Given the description of an element on the screen output the (x, y) to click on. 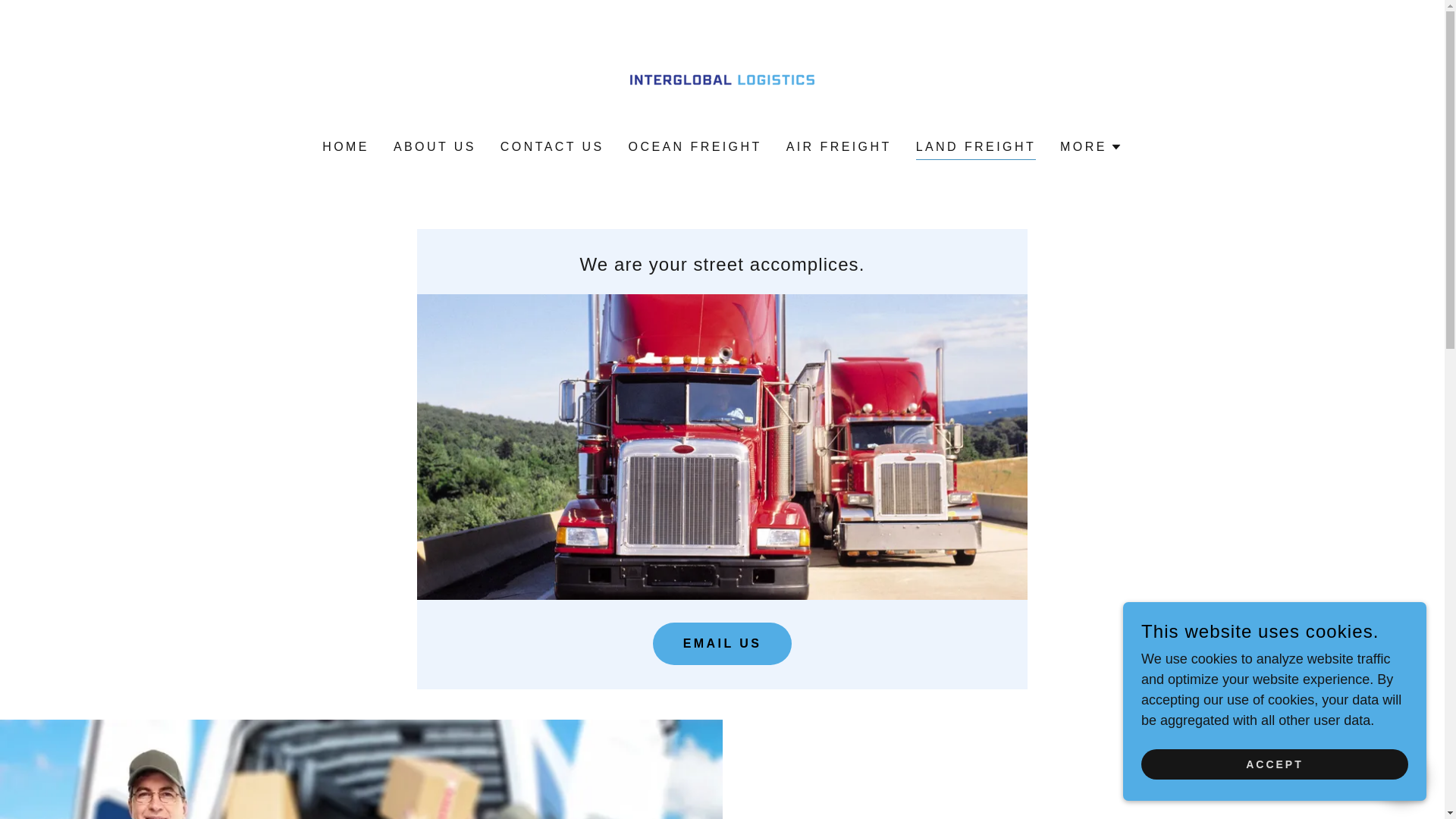
INTERGLOBAL LOGISTICS (722, 79)
ACCEPT (1274, 764)
ABOUT US (434, 146)
LAND FREIGHT (975, 148)
MORE (1090, 147)
EMAIL US (722, 643)
HOME (345, 146)
OCEAN FREIGHT (695, 146)
AIR FREIGHT (838, 146)
CONTACT US (552, 146)
